Given the description of an element on the screen output the (x, y) to click on. 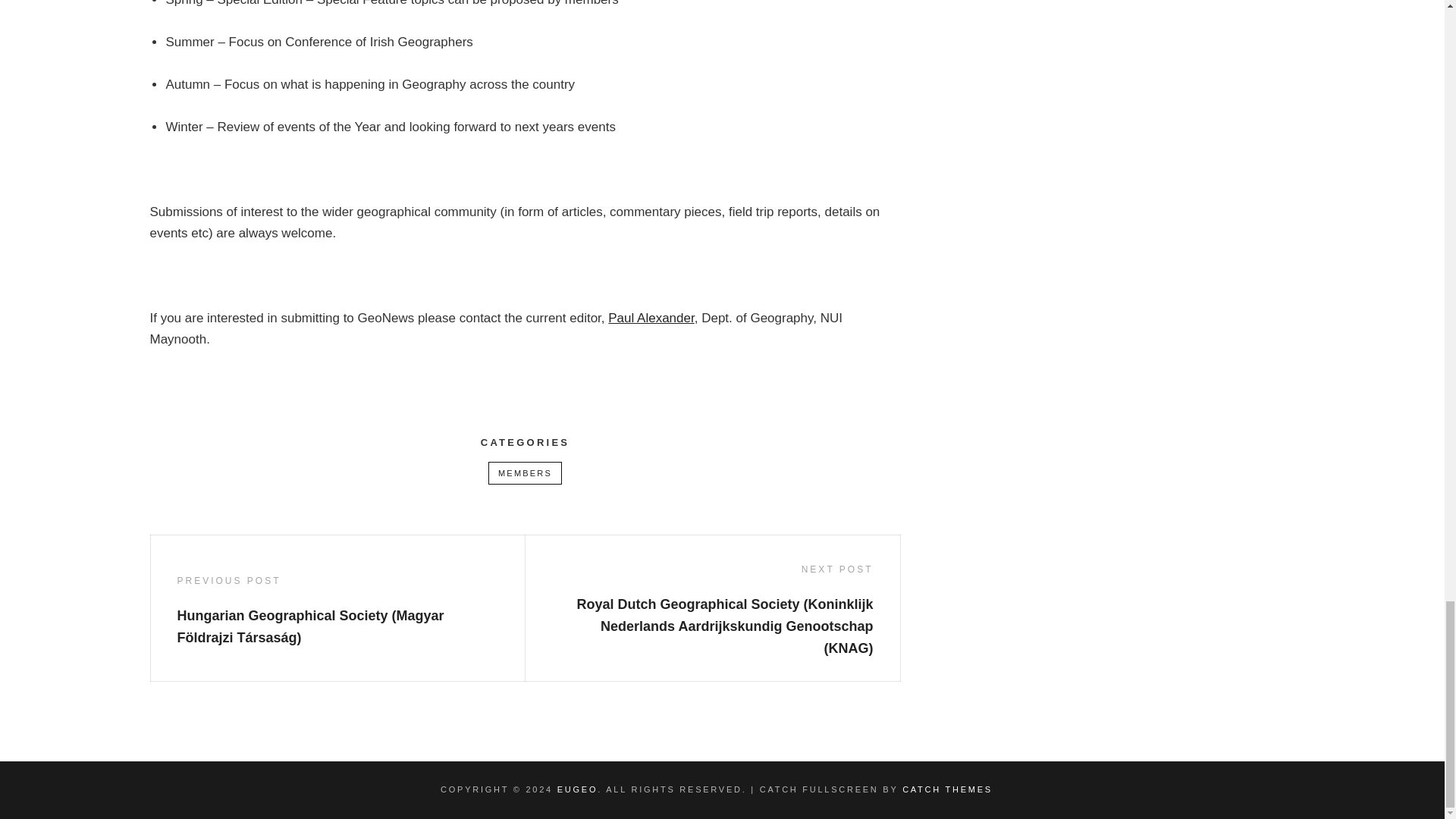
CATCH THEMES (947, 788)
Paul Alexander (651, 318)
MEMBERS (524, 472)
EUGEO (576, 788)
